Given the description of an element on the screen output the (x, y) to click on. 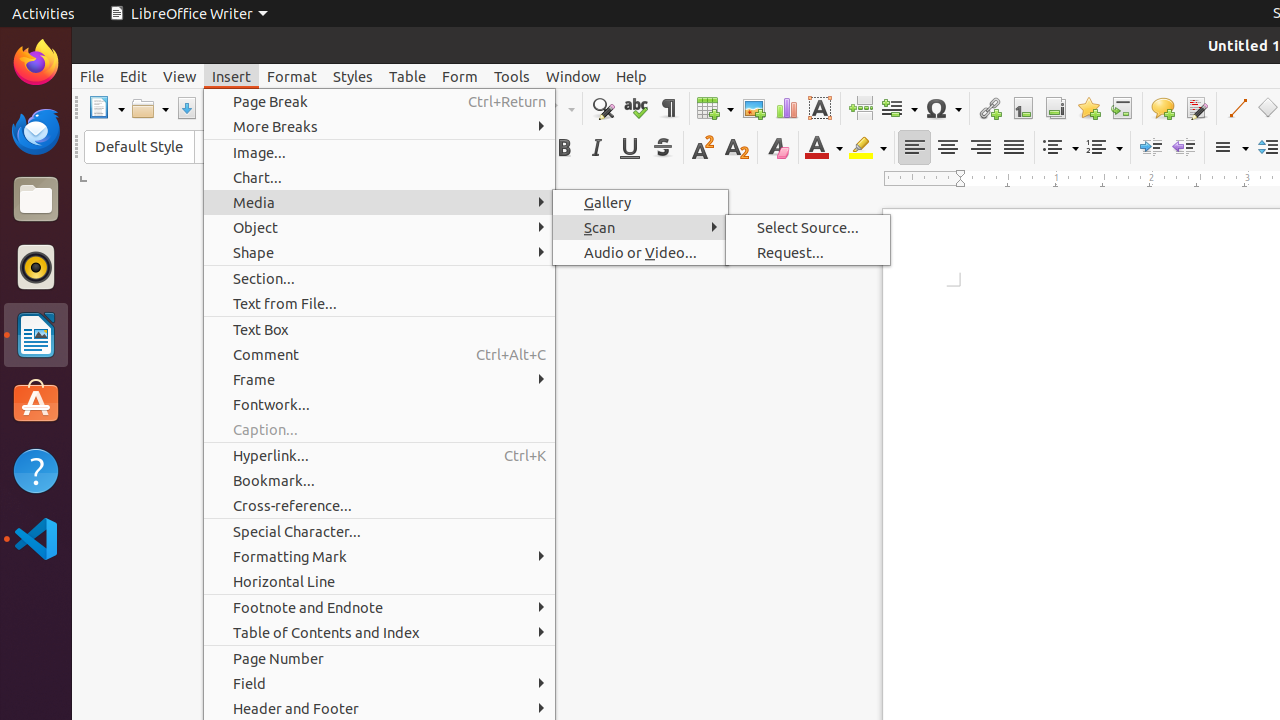
Frame Element type: menu (379, 379)
Left Element type: toggle-button (914, 147)
Media Element type: menu (379, 202)
Justified Element type: toggle-button (1013, 147)
Endnote Element type: push-button (1055, 108)
